Given the description of an element on the screen output the (x, y) to click on. 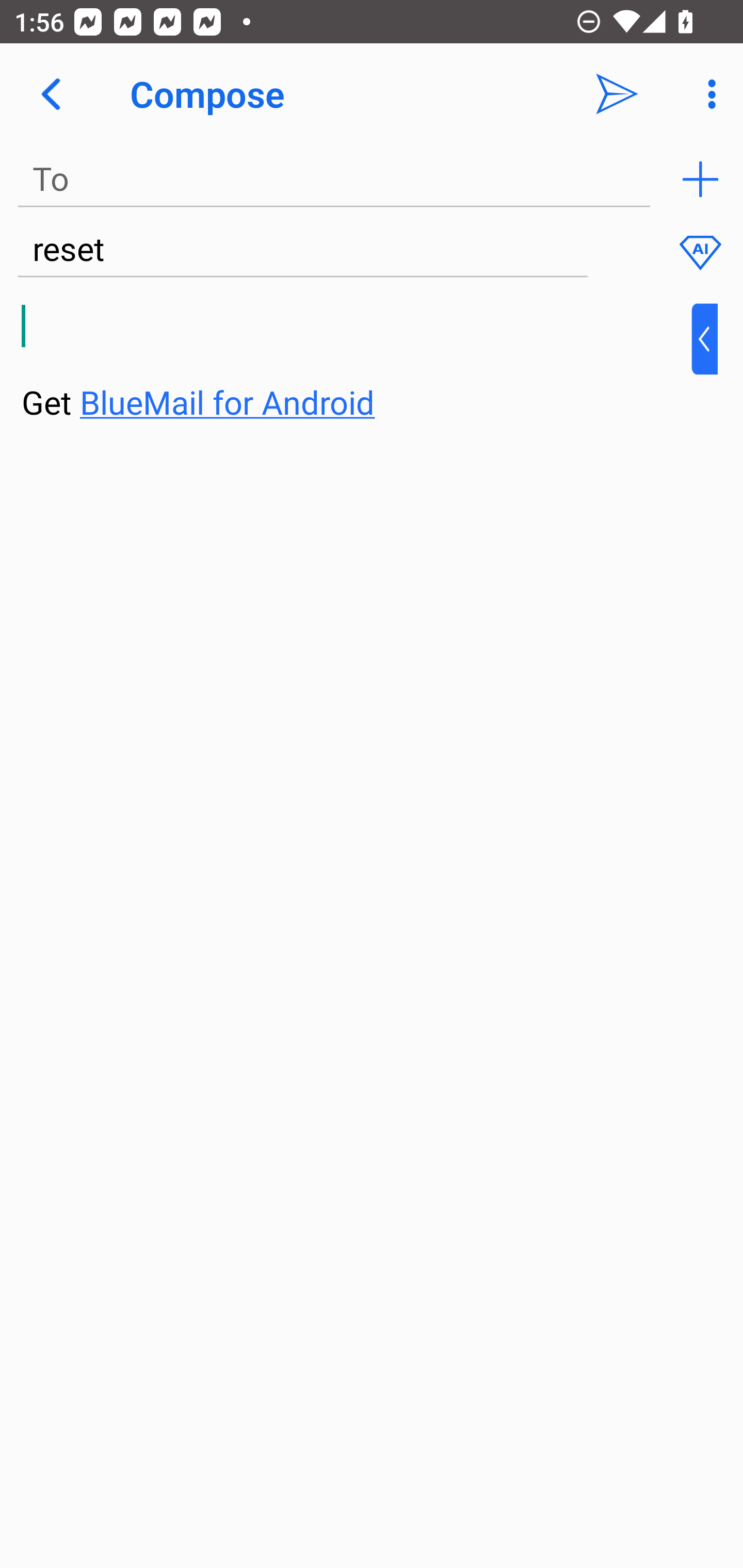
Navigate up (50, 93)
Send (616, 93)
More Options (706, 93)
To (334, 179)
Add recipient (To) (699, 179)
reset (302, 249)


⁣Get BlueMail for Android ​ (355, 363)
